Given the description of an element on the screen output the (x, y) to click on. 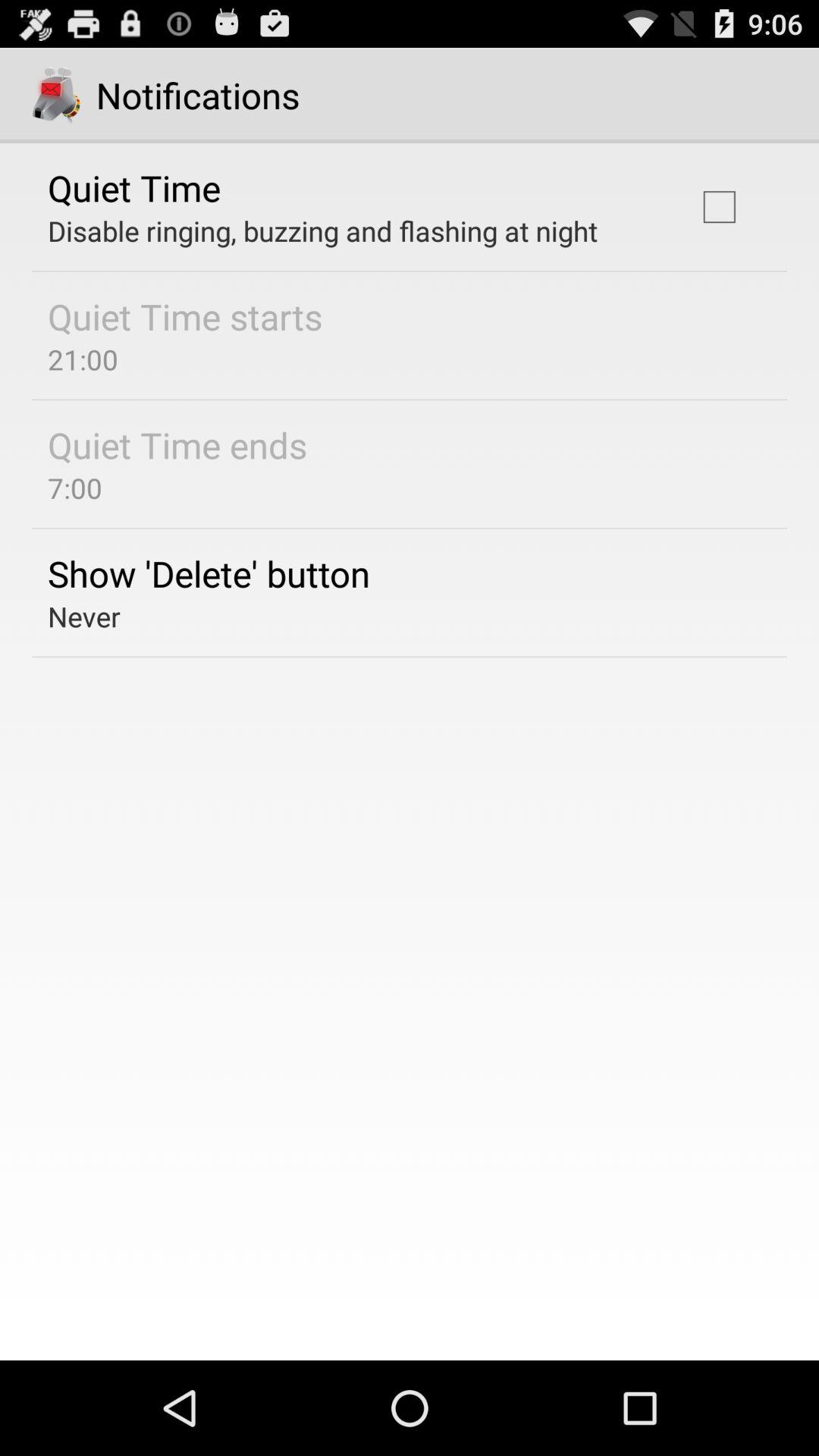
select the disable ringing buzzing app (322, 230)
